Given the description of an element on the screen output the (x, y) to click on. 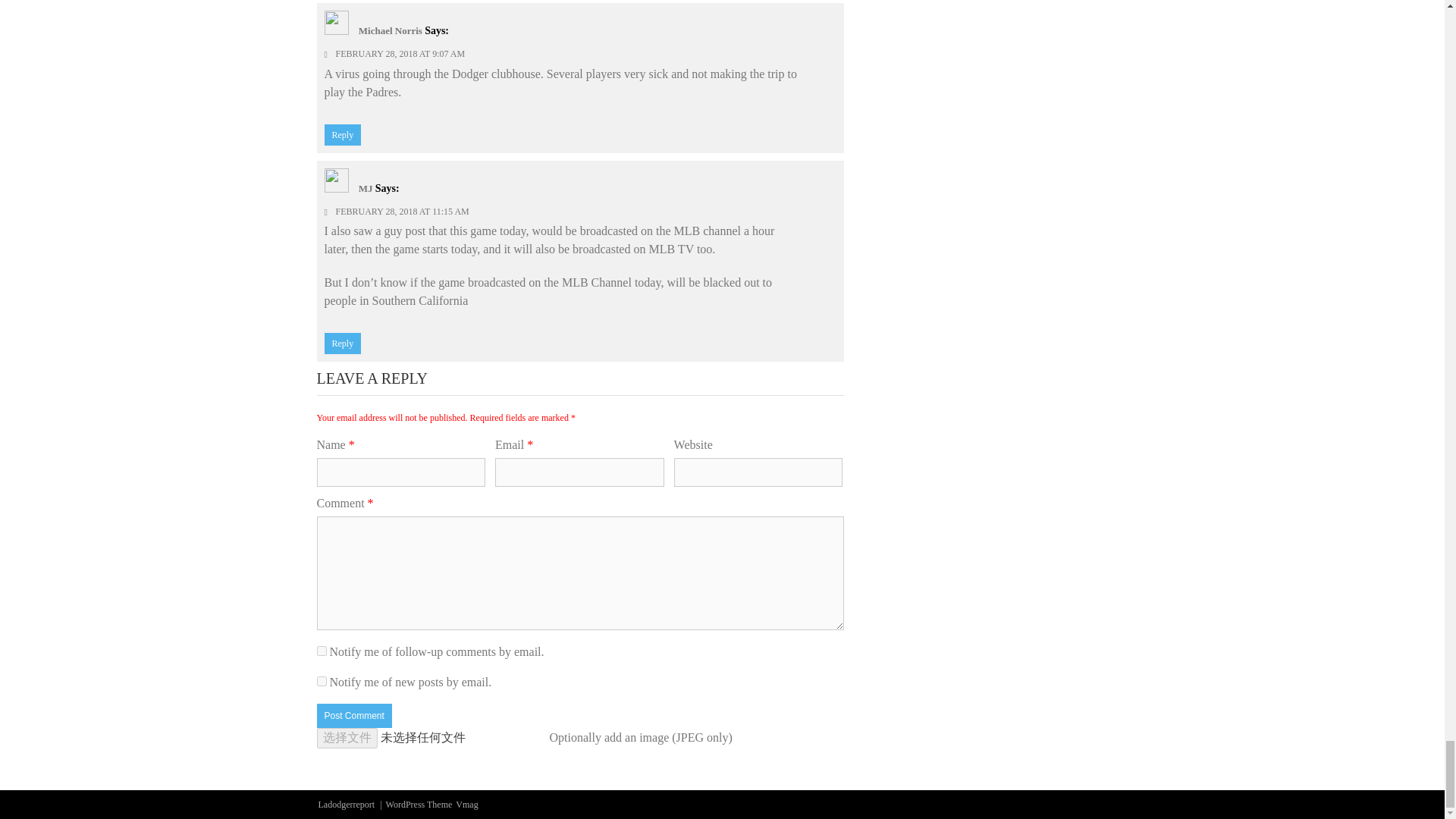
subscribe (321, 651)
subscribe (321, 681)
Post Comment (354, 715)
